Given the description of an element on the screen output the (x, y) to click on. 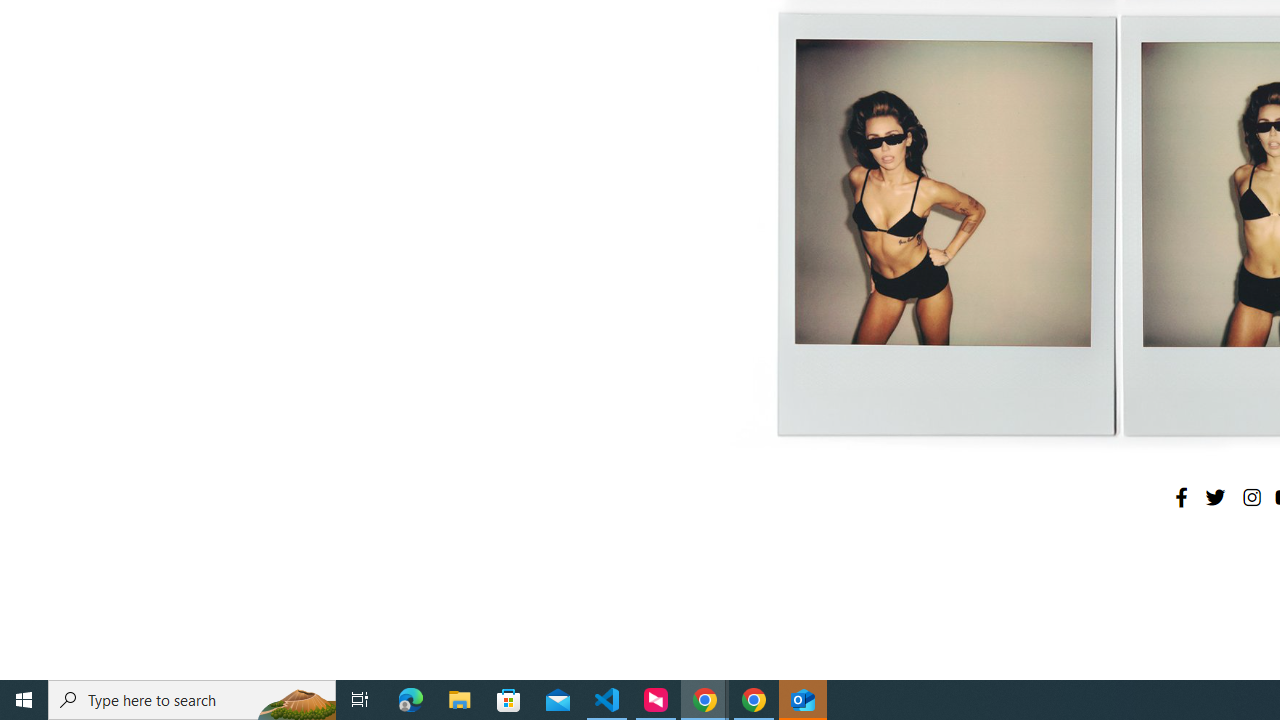
Instagram (1251, 497)
Facebook (1181, 497)
